Given the description of an element on the screen output the (x, y) to click on. 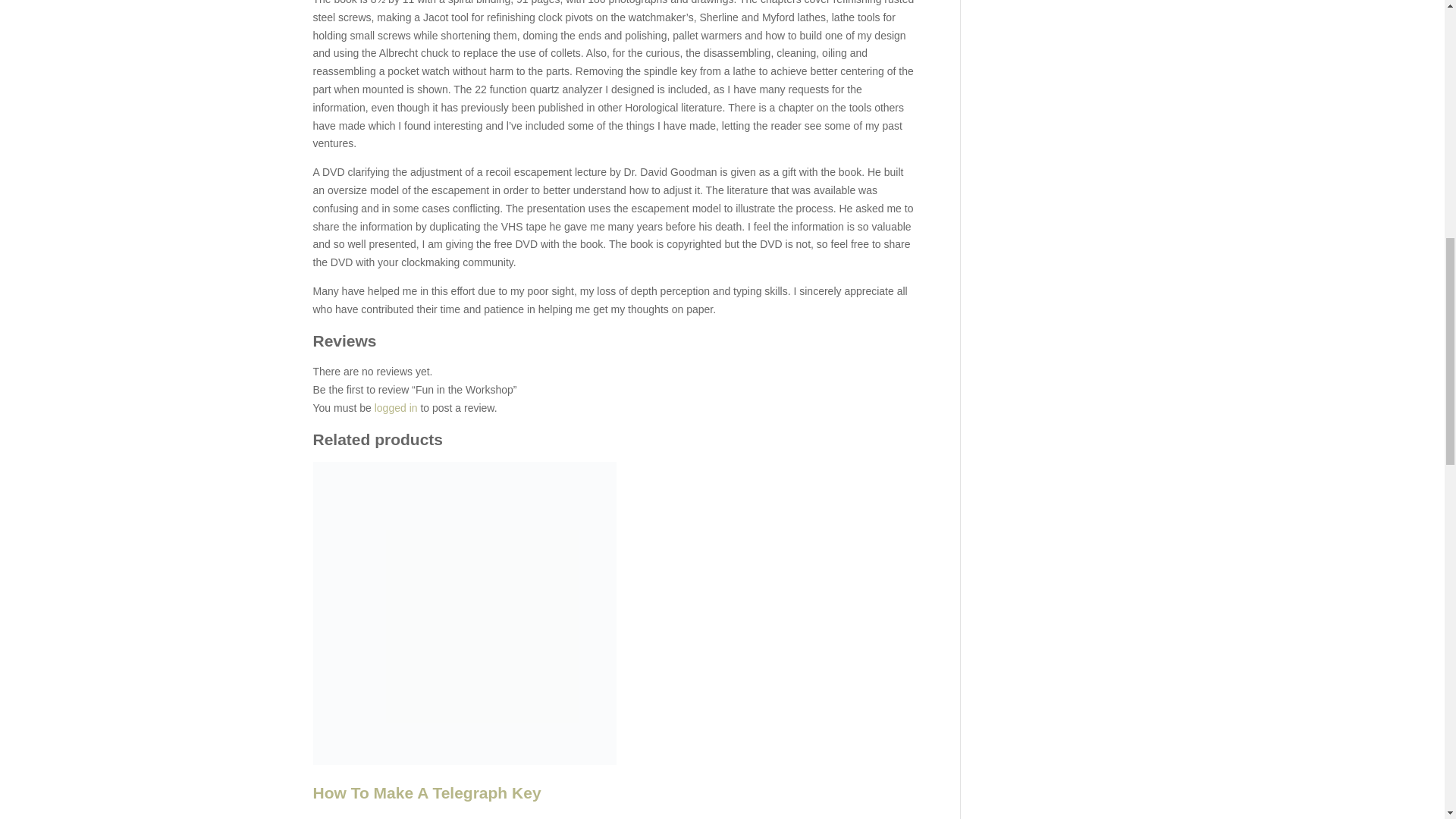
logged in (395, 408)
